Given the description of an element on the screen output the (x, y) to click on. 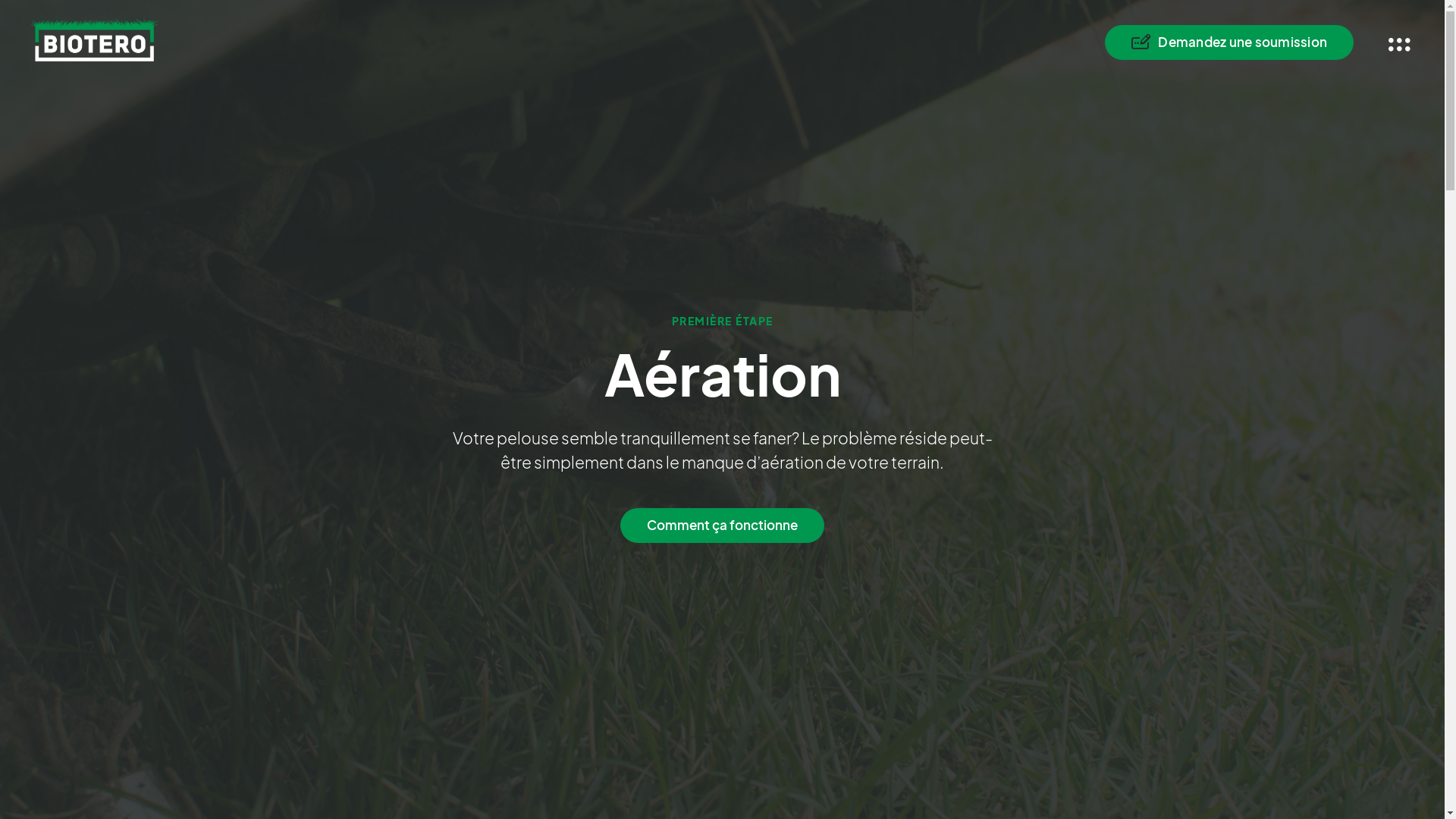
Demandez une soumission Element type: text (1228, 42)
